Given the description of an element on the screen output the (x, y) to click on. 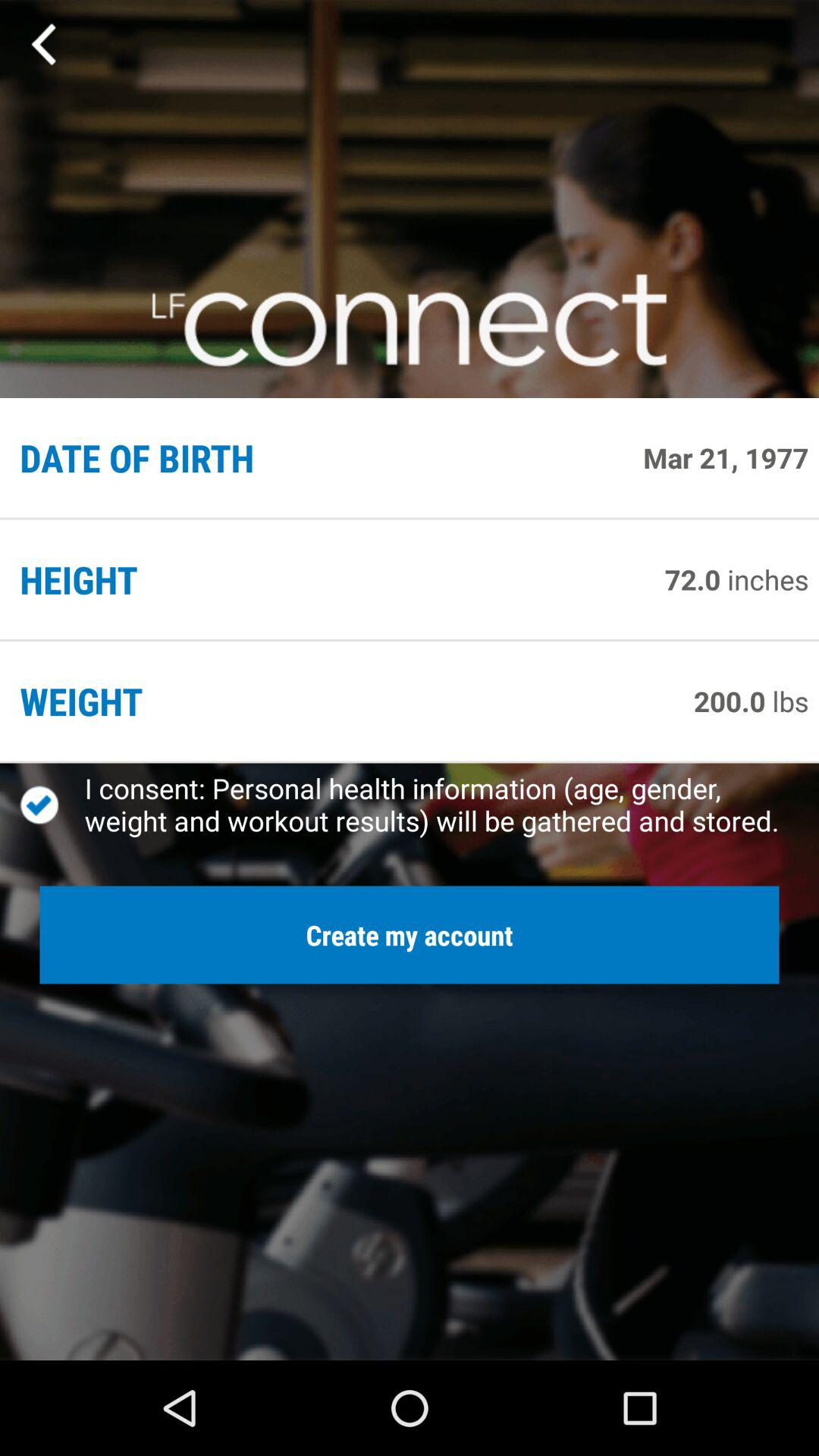
the symbol of tick option (51, 804)
